Given the description of an element on the screen output the (x, y) to click on. 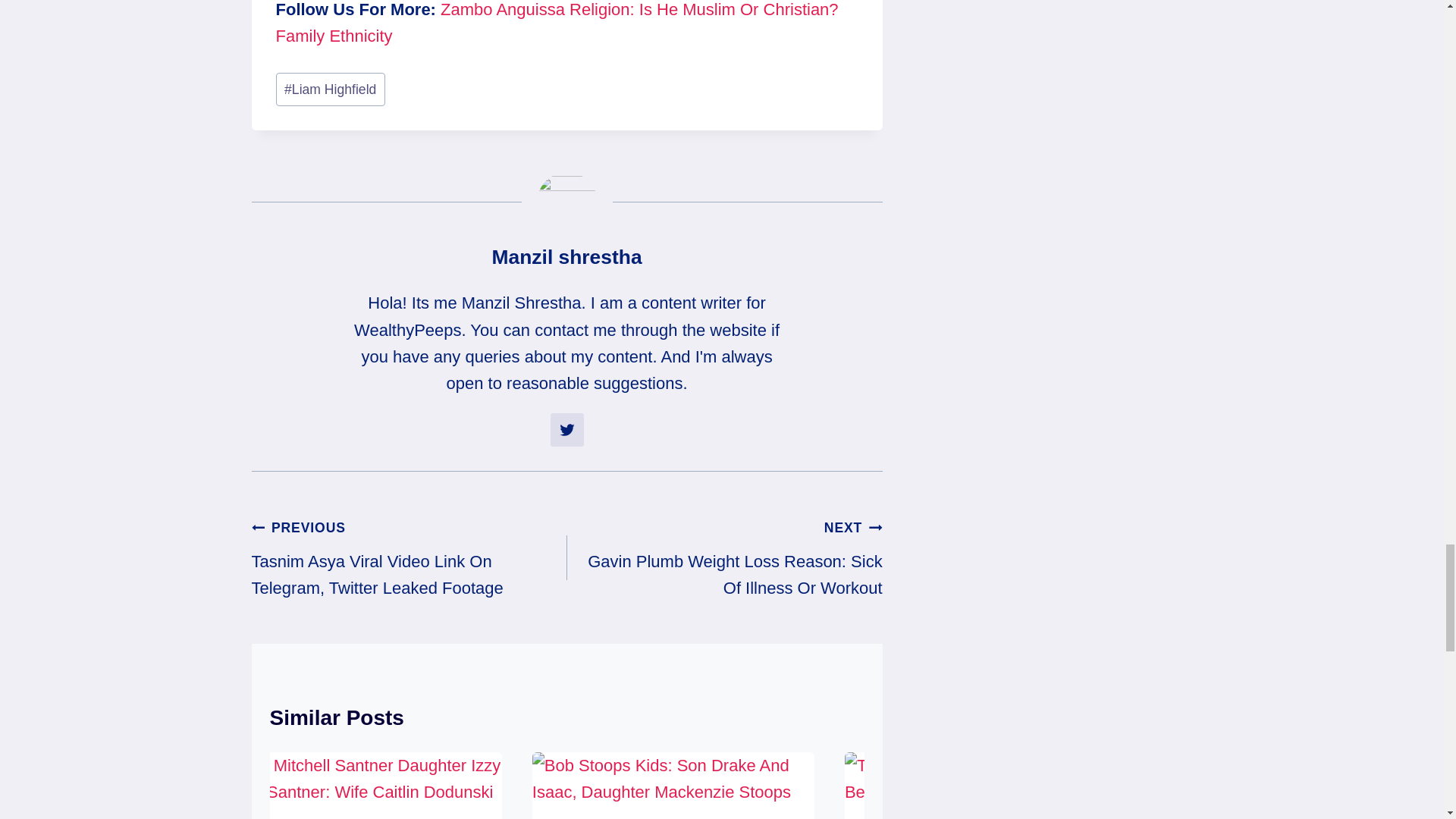
Manzil shrestha (567, 256)
Follow Manzil shrestha on Twitter (566, 429)
Liam Highfield (330, 89)
Posts by Manzil shrestha (567, 256)
